Given the description of an element on the screen output the (x, y) to click on. 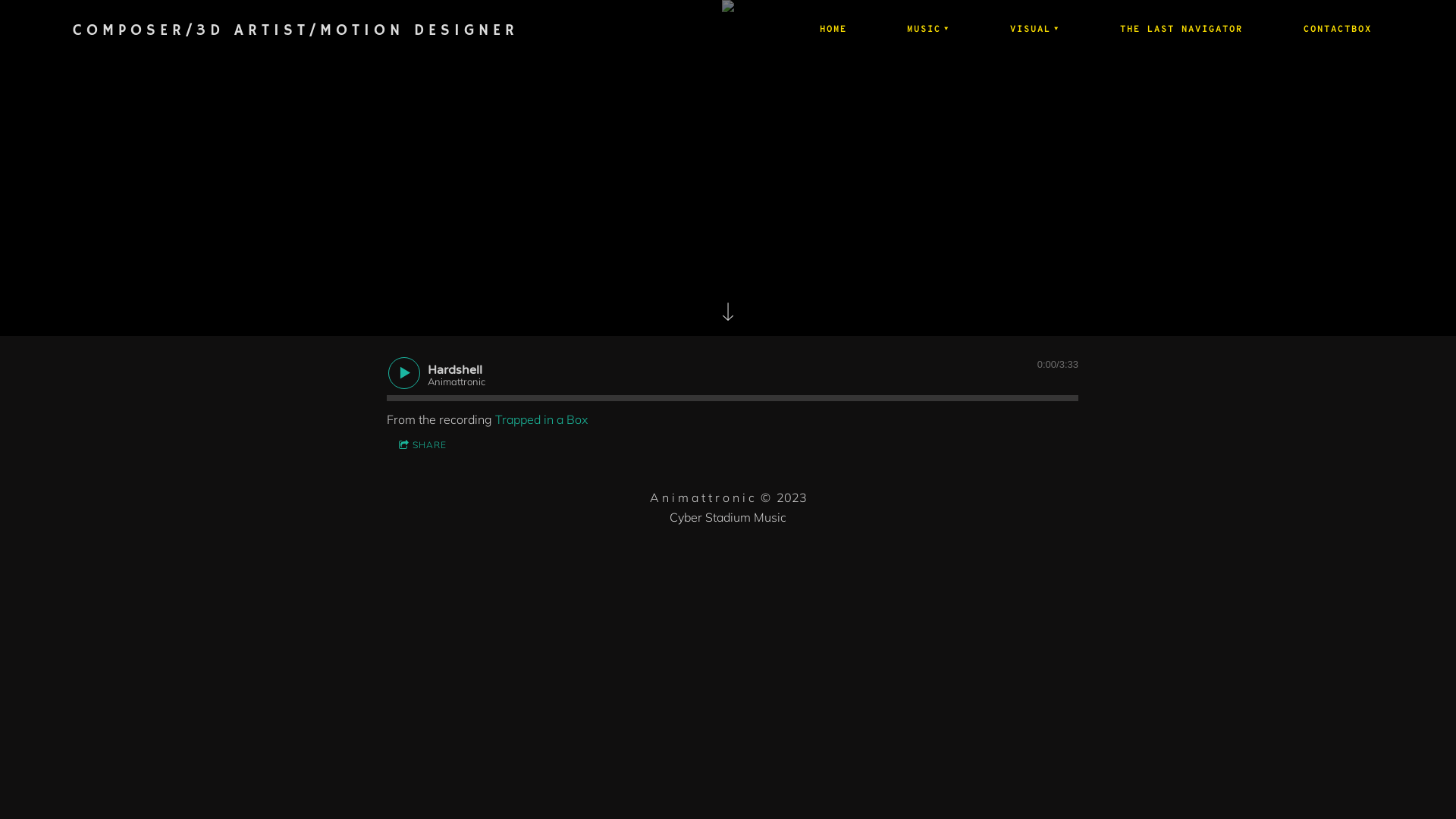
VISUAL Element type: text (1035, 29)
CONTACTBOX Element type: text (1337, 29)
COMPOSER/3D ARTIST/MOTION DESIGNER Element type: text (295, 30)
Play Element type: hover (404, 373)
MUSIC Element type: text (928, 29)
Trapped in a Box Element type: text (541, 418)
HOME Element type: text (833, 29)
THE LAST NAVIGATOR Element type: text (1181, 29)
SHARE Element type: text (422, 445)
